Given the description of an element on the screen output the (x, y) to click on. 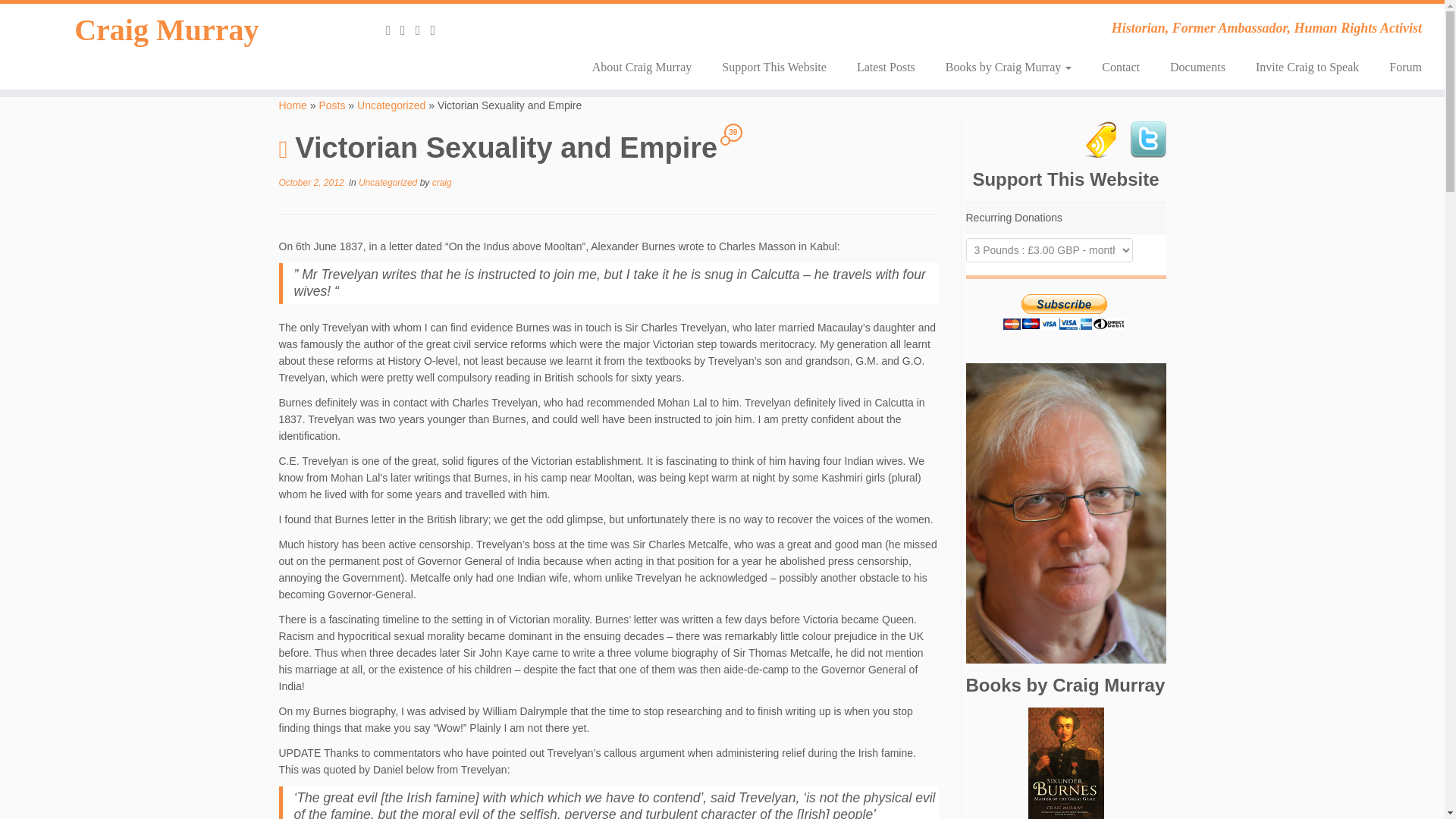
Contact (1120, 67)
Posts (331, 105)
craig (441, 182)
Follow me on Facebook (437, 29)
Uncategorized (389, 182)
View all posts by craig (441, 182)
E-mail (407, 29)
Craig Murray (293, 105)
Home (293, 105)
Follow me on Twitter (422, 29)
Invite Craig to Speak (1307, 67)
13:32 (311, 182)
Support This Website (773, 67)
Craig Murray (166, 30)
Books by Craig Murray (1008, 67)
